Given the description of an element on the screen output the (x, y) to click on. 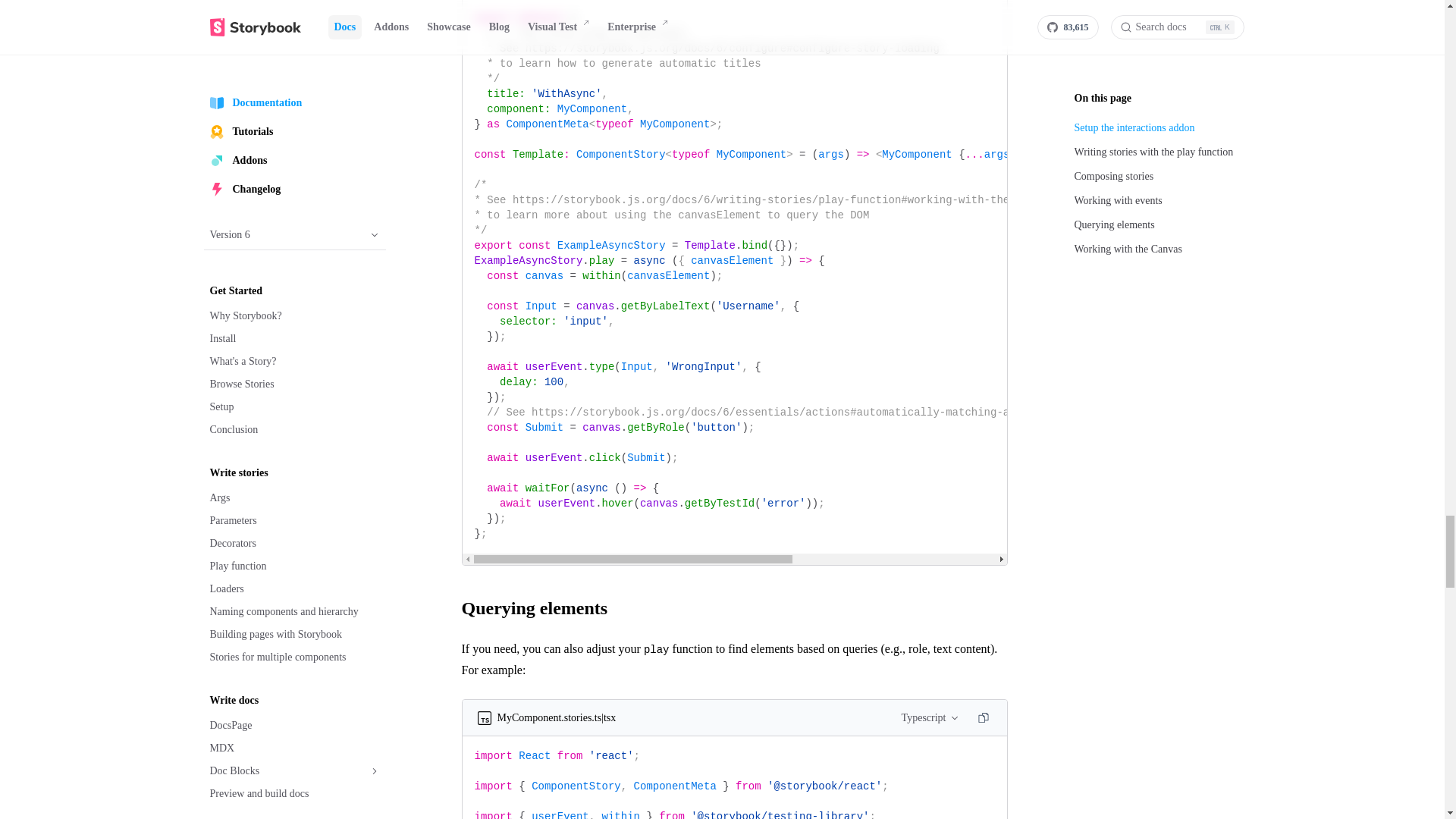
Querying elements (734, 607)
